Given the description of an element on the screen output the (x, y) to click on. 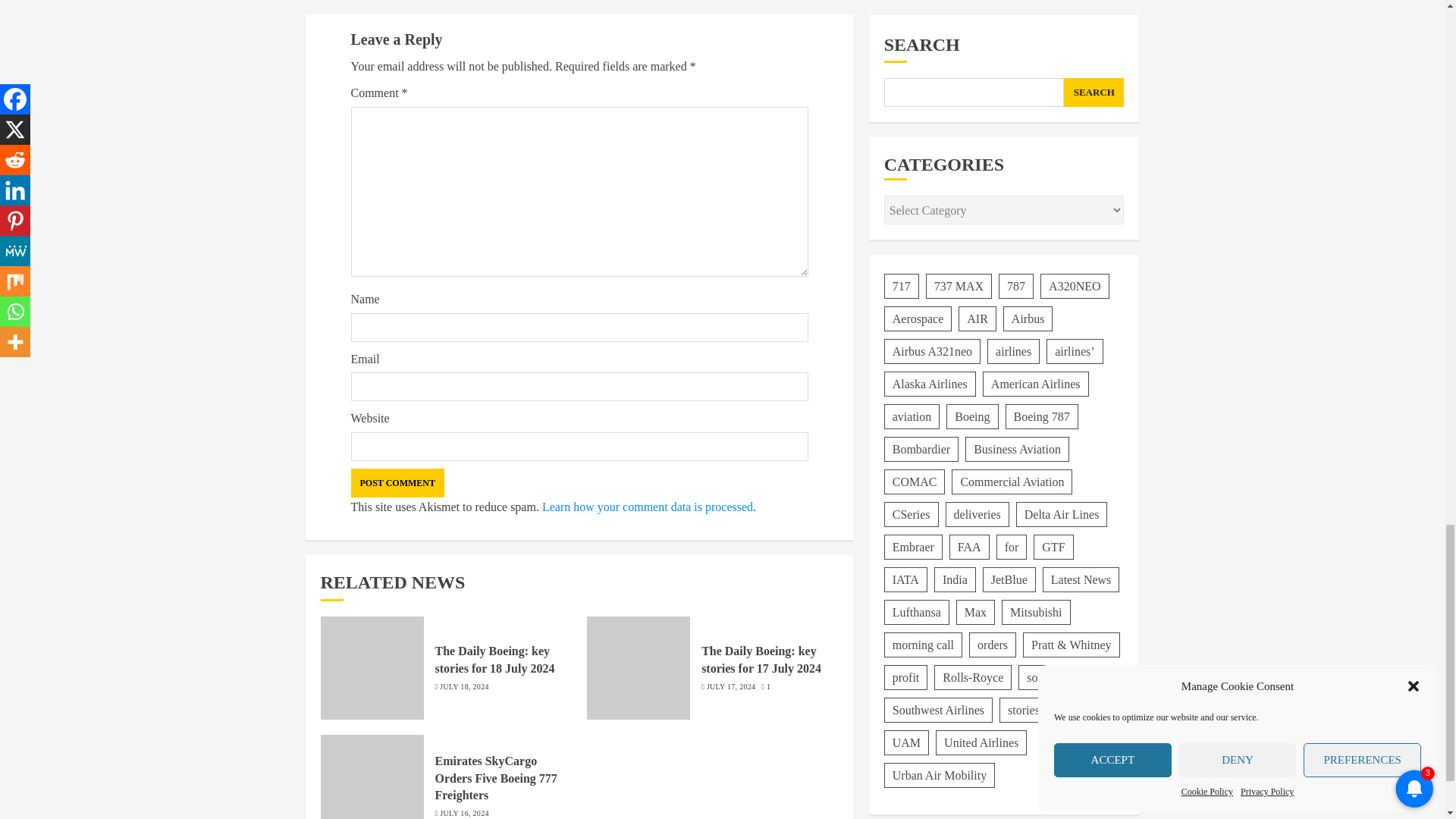
Post Comment (397, 482)
